Given the description of an element on the screen output the (x, y) to click on. 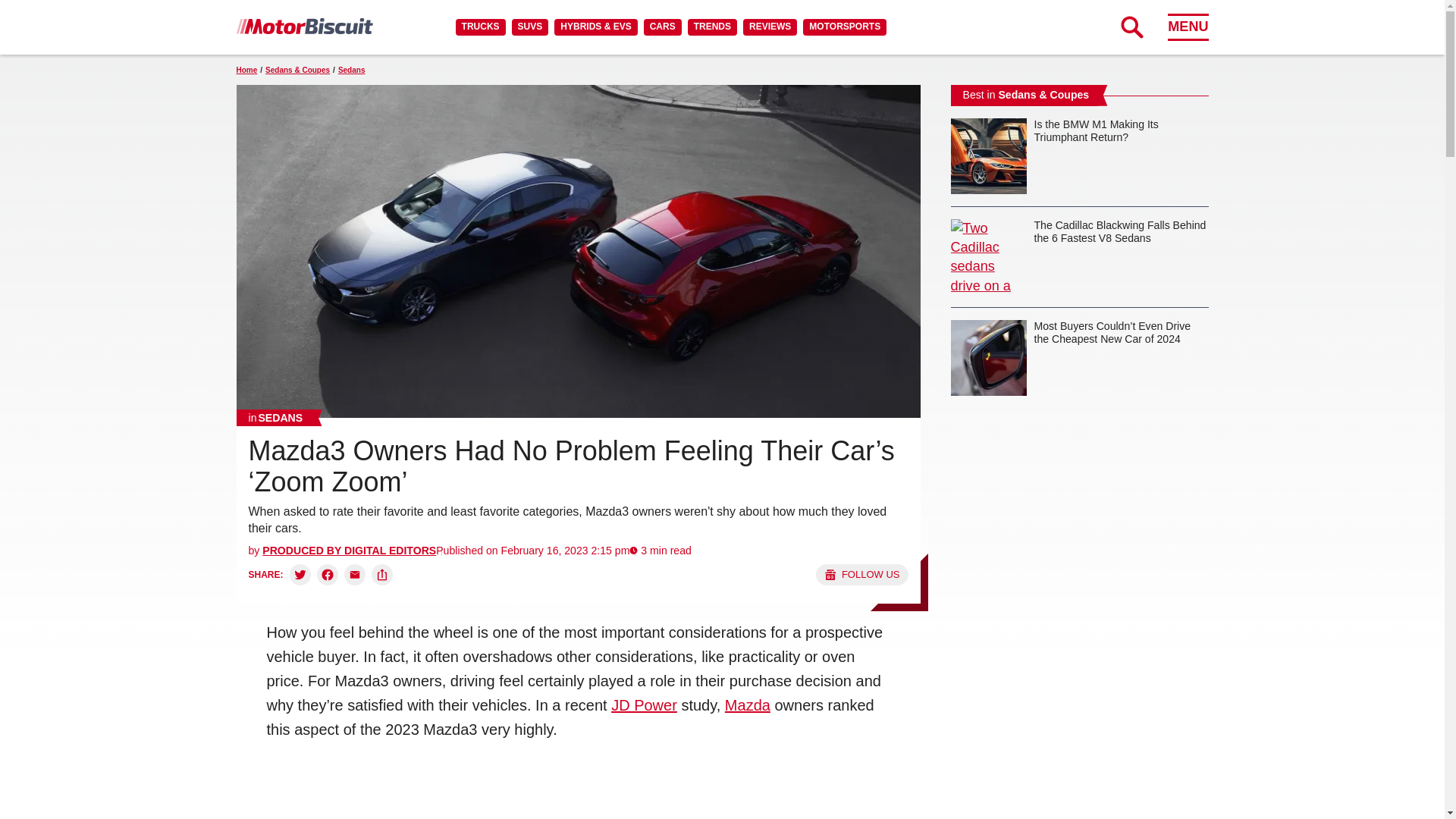
MotorBiscuit (303, 26)
TRENDS (711, 26)
Copy link and share:  (382, 574)
MOTORSPORTS (844, 26)
CARS (662, 26)
SUVS (530, 26)
REVIEWS (769, 26)
TRUCKS (480, 26)
Sedans (275, 417)
MENU (1187, 26)
Follow us on Google News (861, 574)
Expand Search (1131, 26)
